Given the description of an element on the screen output the (x, y) to click on. 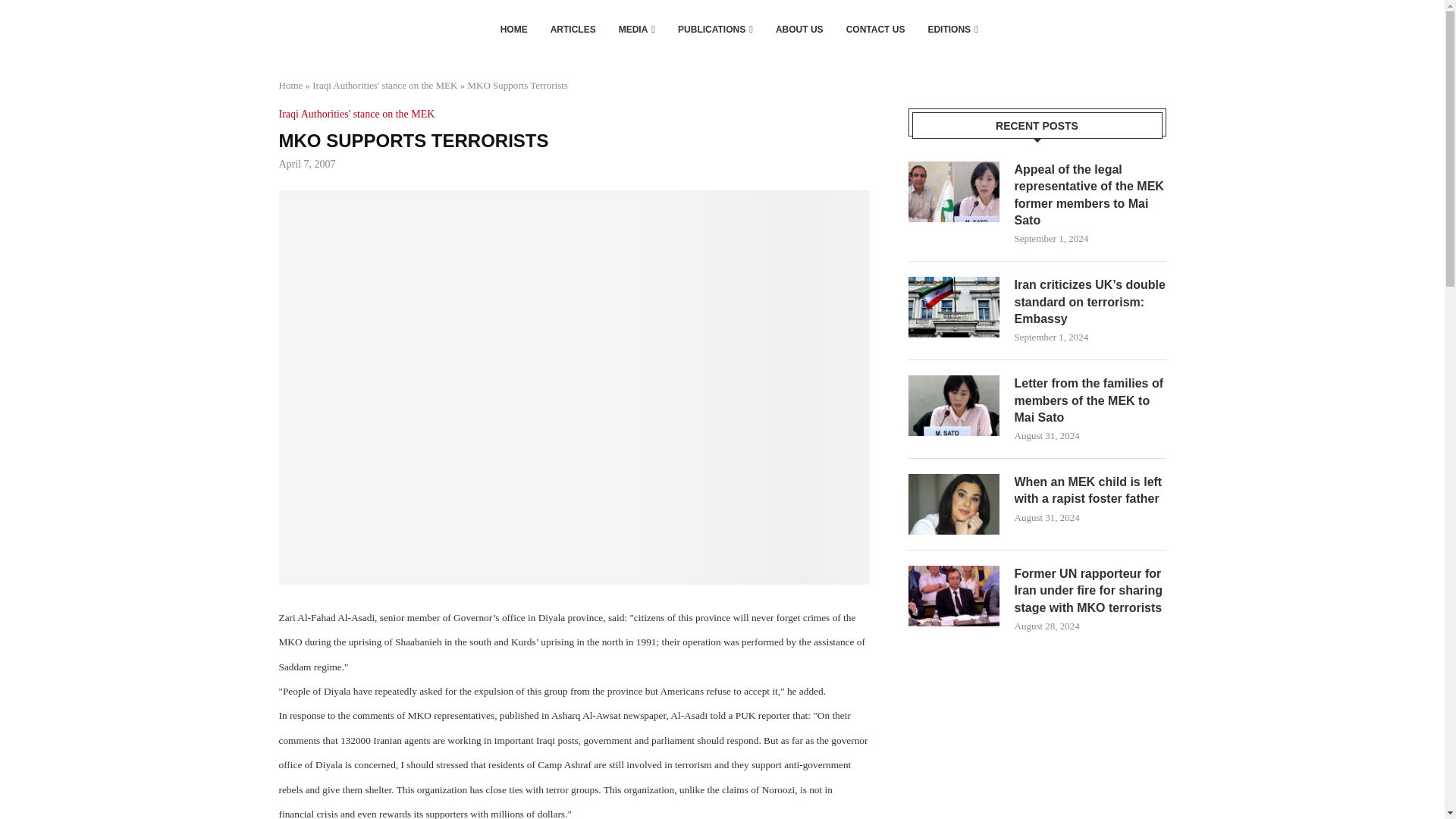
ABOUT US (800, 29)
PUBLICATIONS (715, 29)
CONTACT US (875, 29)
ARTICLES (572, 29)
EDITIONS (951, 29)
